Given the description of an element on the screen output the (x, y) to click on. 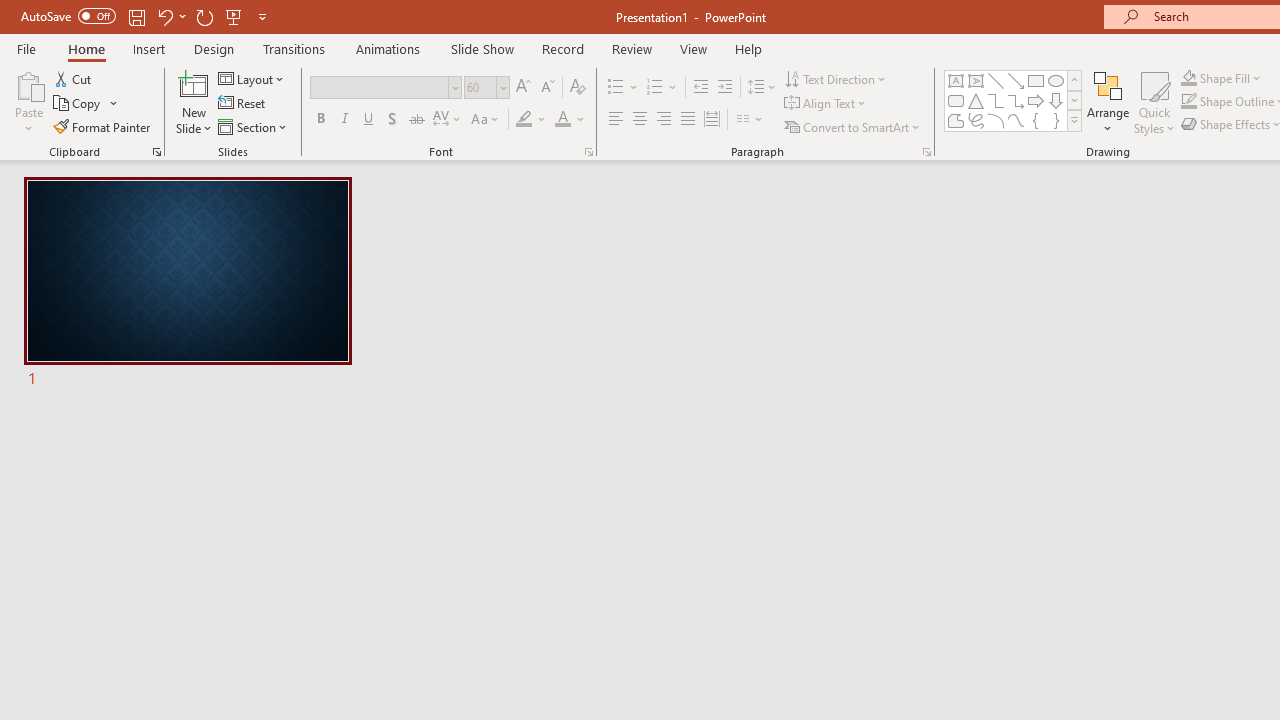
AutomationID: ShapesInsertGallery (1014, 100)
Change Case (486, 119)
Connector: Elbow (995, 100)
Isosceles Triangle (975, 100)
Rectangle: Rounded Corners (955, 100)
Line Spacing (762, 87)
Character Spacing (447, 119)
Rectangle (1035, 80)
Align Left (616, 119)
Italic (344, 119)
